Given the description of an element on the screen output the (x, y) to click on. 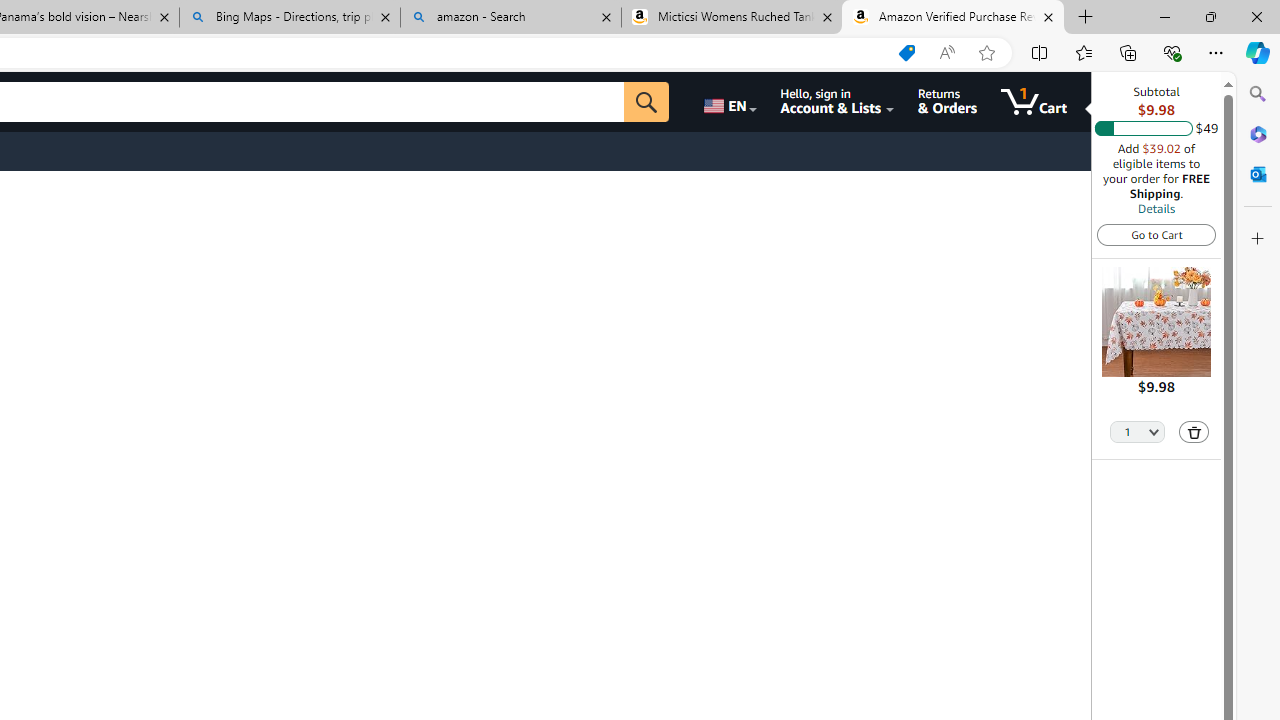
Details (1156, 208)
Delete (1194, 431)
Choose a language for shopping. (728, 101)
